Given the description of an element on the screen output the (x, y) to click on. 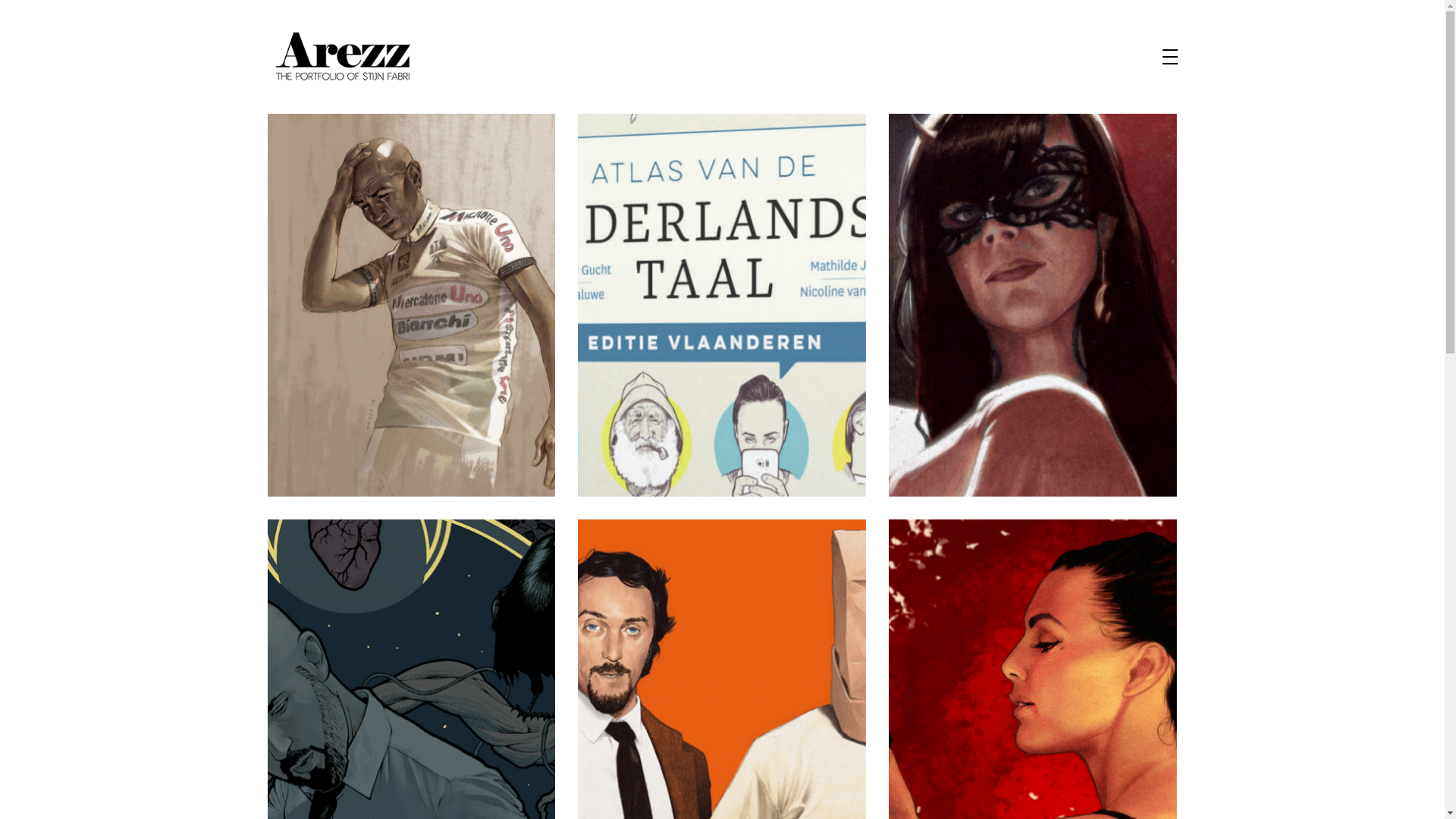
Arezz Element type: text (290, 121)
